Given the description of an element on the screen output the (x, y) to click on. 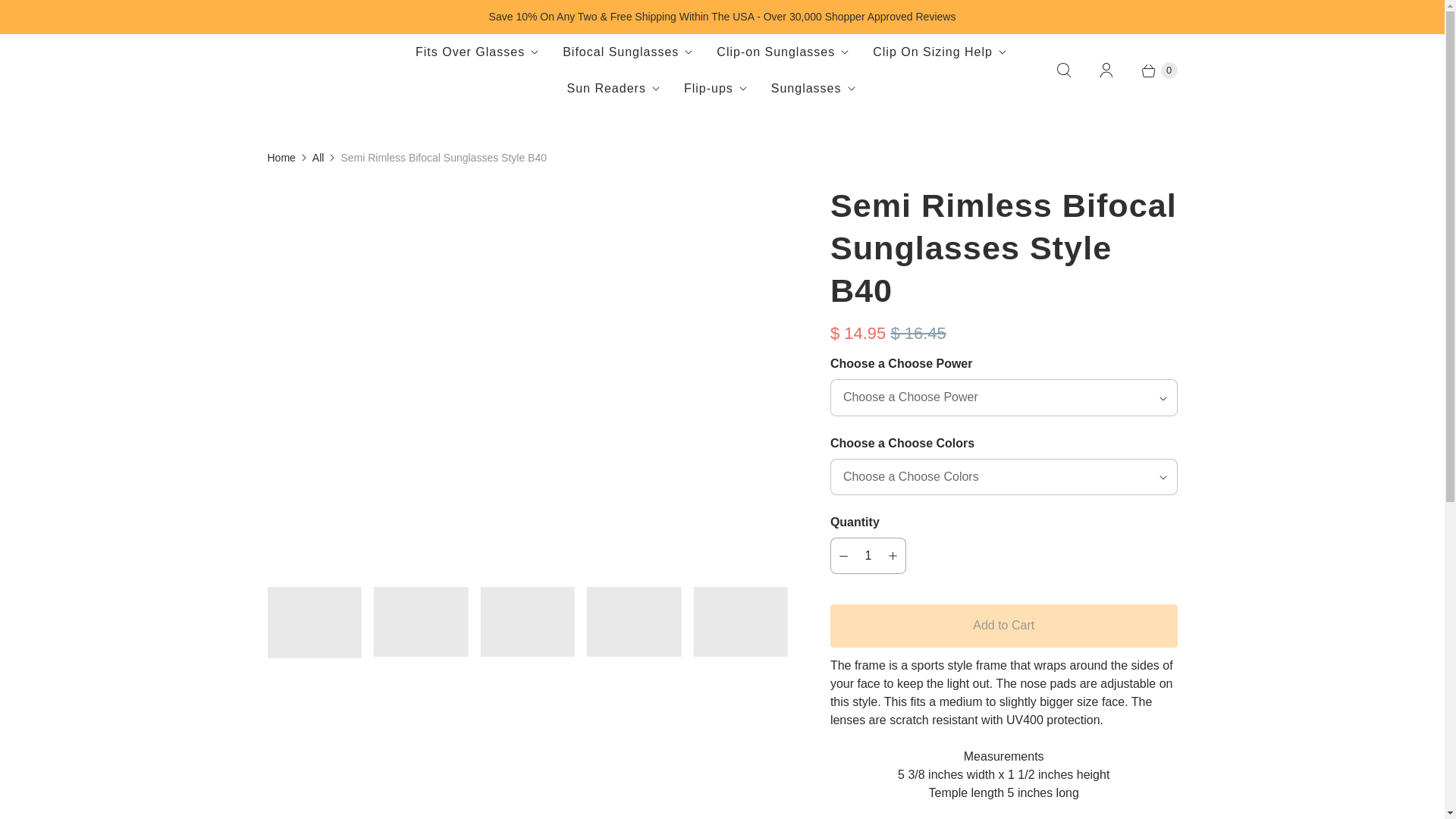
0 (1151, 70)
Semi Rimless Bifocal Sunglasses Style B40 - Sunglass Rage (133, 193)
Semi Rimless Bifocal Sunglasses Style B40 - Sunglass Rage (526, 193)
